Given the description of an element on the screen output the (x, y) to click on. 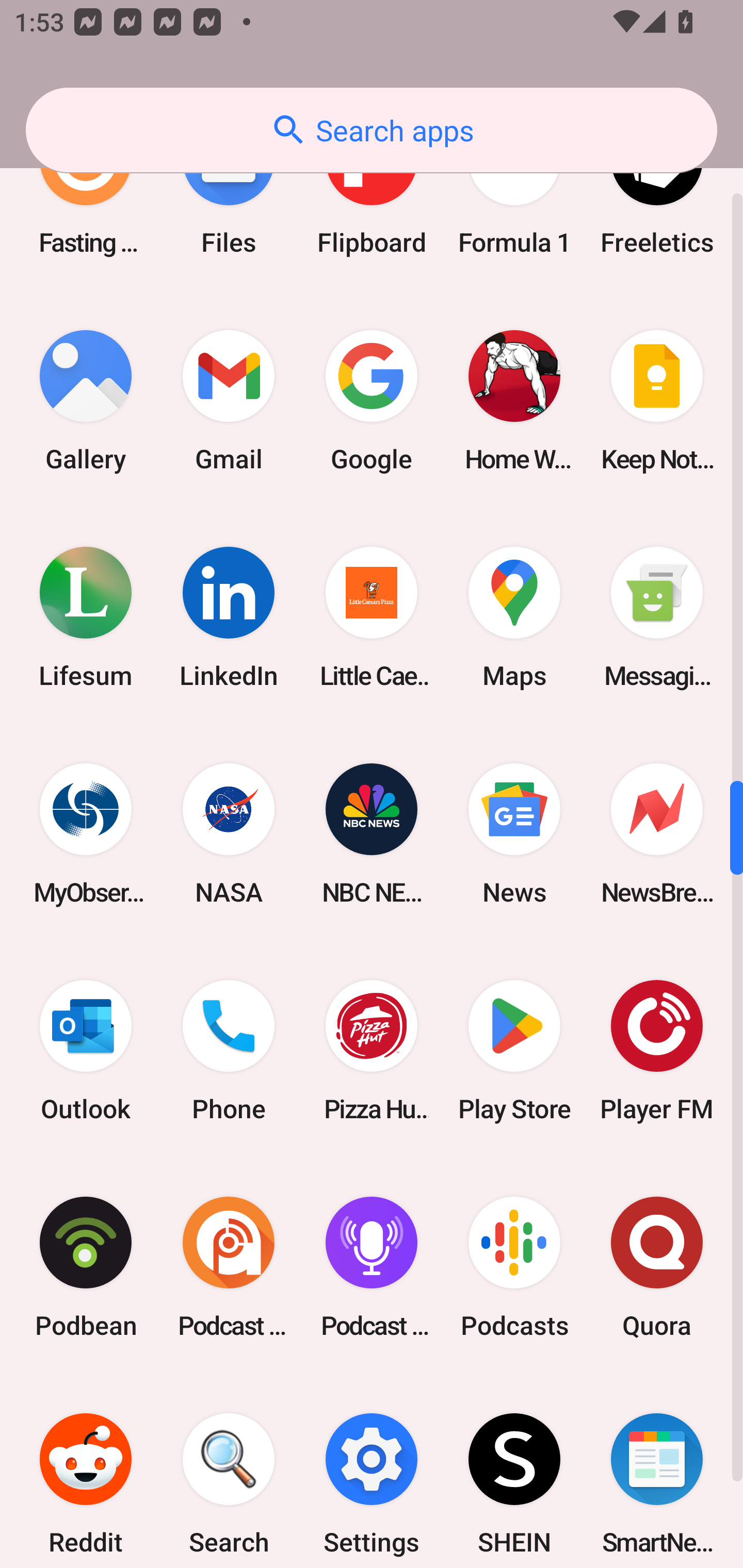
  Search apps (371, 130)
Gallery (85, 401)
Gmail (228, 401)
Google (371, 401)
Home Workout (514, 401)
Keep Notes (656, 401)
Lifesum (85, 617)
LinkedIn (228, 617)
Little Caesars Pizza (371, 617)
Maps (514, 617)
Messaging (656, 617)
MyObservatory (85, 833)
NASA (228, 833)
NBC NEWS (371, 833)
News (514, 833)
NewsBreak (656, 833)
Outlook (85, 1050)
Phone (228, 1050)
Pizza Hut HK & Macau (371, 1050)
Play Store (514, 1050)
Player FM (656, 1050)
Podbean (85, 1266)
Podcast Addict (228, 1266)
Podcast Player (371, 1266)
Podcasts (514, 1266)
Quora (656, 1266)
Reddit (85, 1471)
Search (228, 1471)
Settings (371, 1471)
SHEIN (514, 1471)
SmartNews (656, 1471)
